Given the description of an element on the screen output the (x, y) to click on. 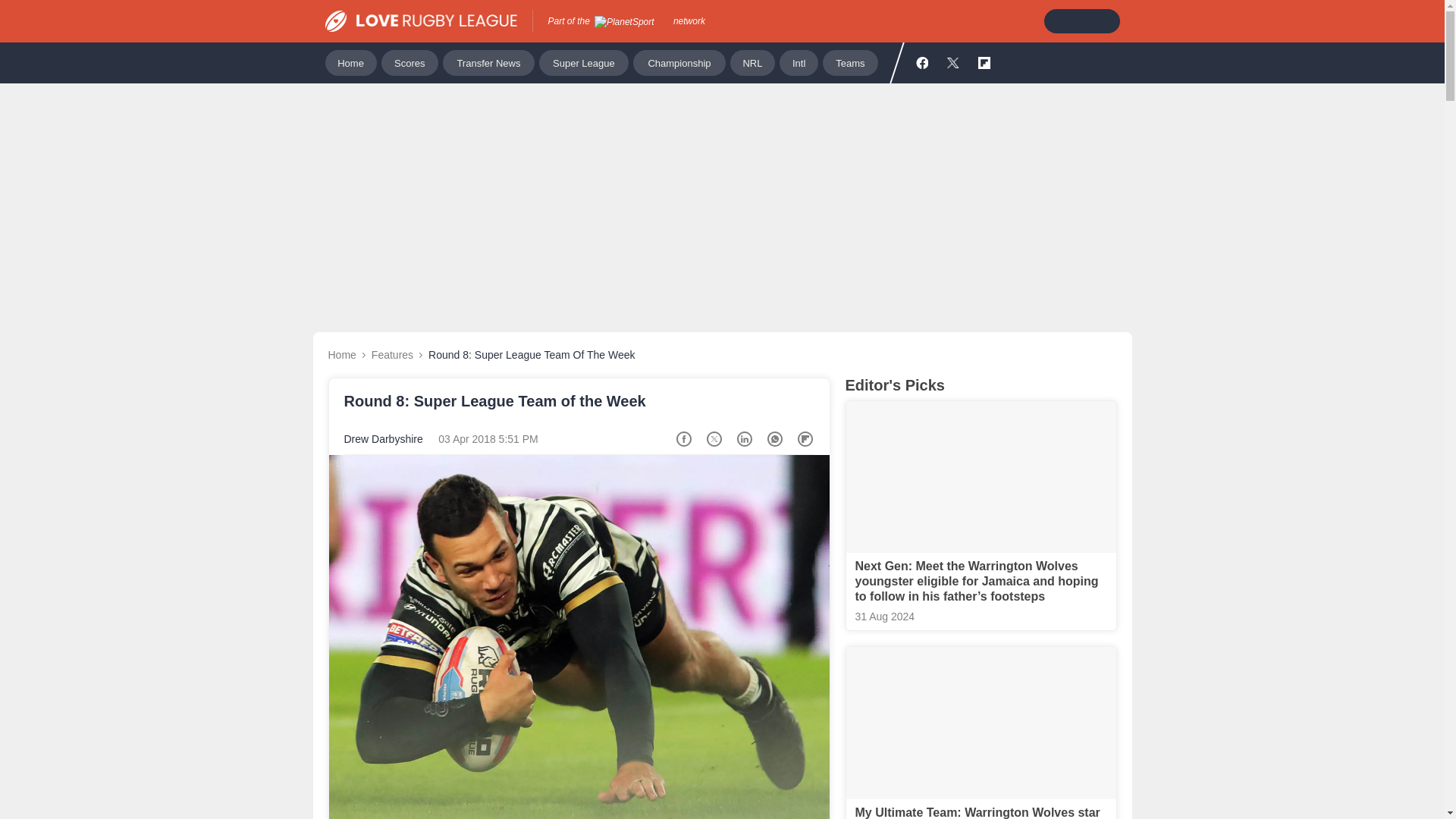
NRL (752, 62)
Features (392, 354)
Super League (583, 62)
Drew Darbyshire (383, 439)
Championship (679, 62)
Teams (849, 62)
Transfer News (488, 62)
Home (349, 62)
Scores (409, 62)
Intl (798, 62)
